Given the description of an element on the screen output the (x, y) to click on. 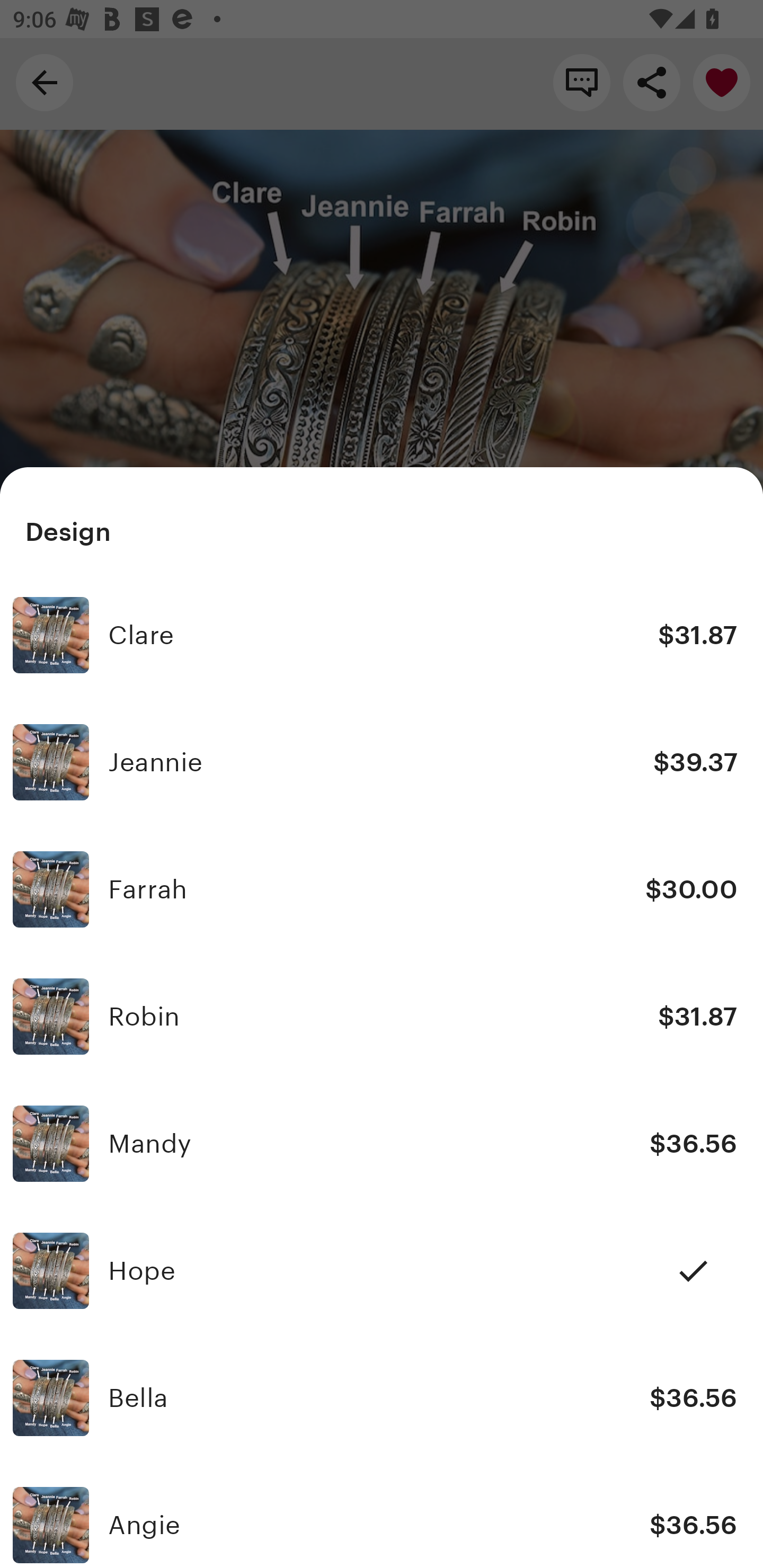
Clare $31.87 (381, 635)
Jeannie $39.37 (381, 762)
Farrah $30.00 (381, 889)
Robin $31.87 (381, 1016)
Mandy $36.56 (381, 1143)
Hope Selected (381, 1270)
Bella $36.56 (381, 1397)
Angie $36.56 (381, 1514)
